Given the description of an element on the screen output the (x, y) to click on. 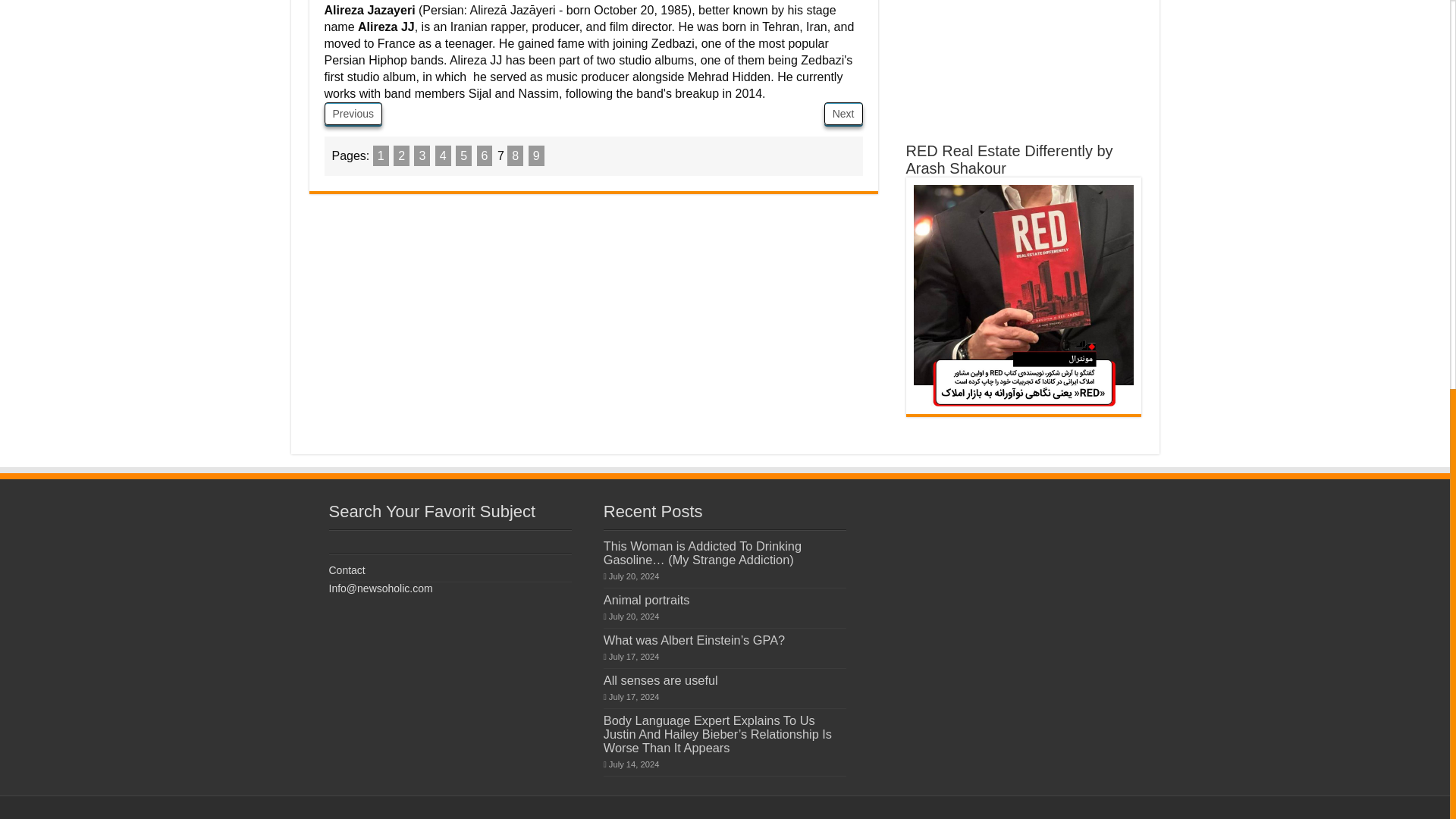
Advertisement (1023, 59)
Scroll To Top (1427, 138)
Previous (352, 113)
Next (843, 113)
